Given the description of an element on the screen output the (x, y) to click on. 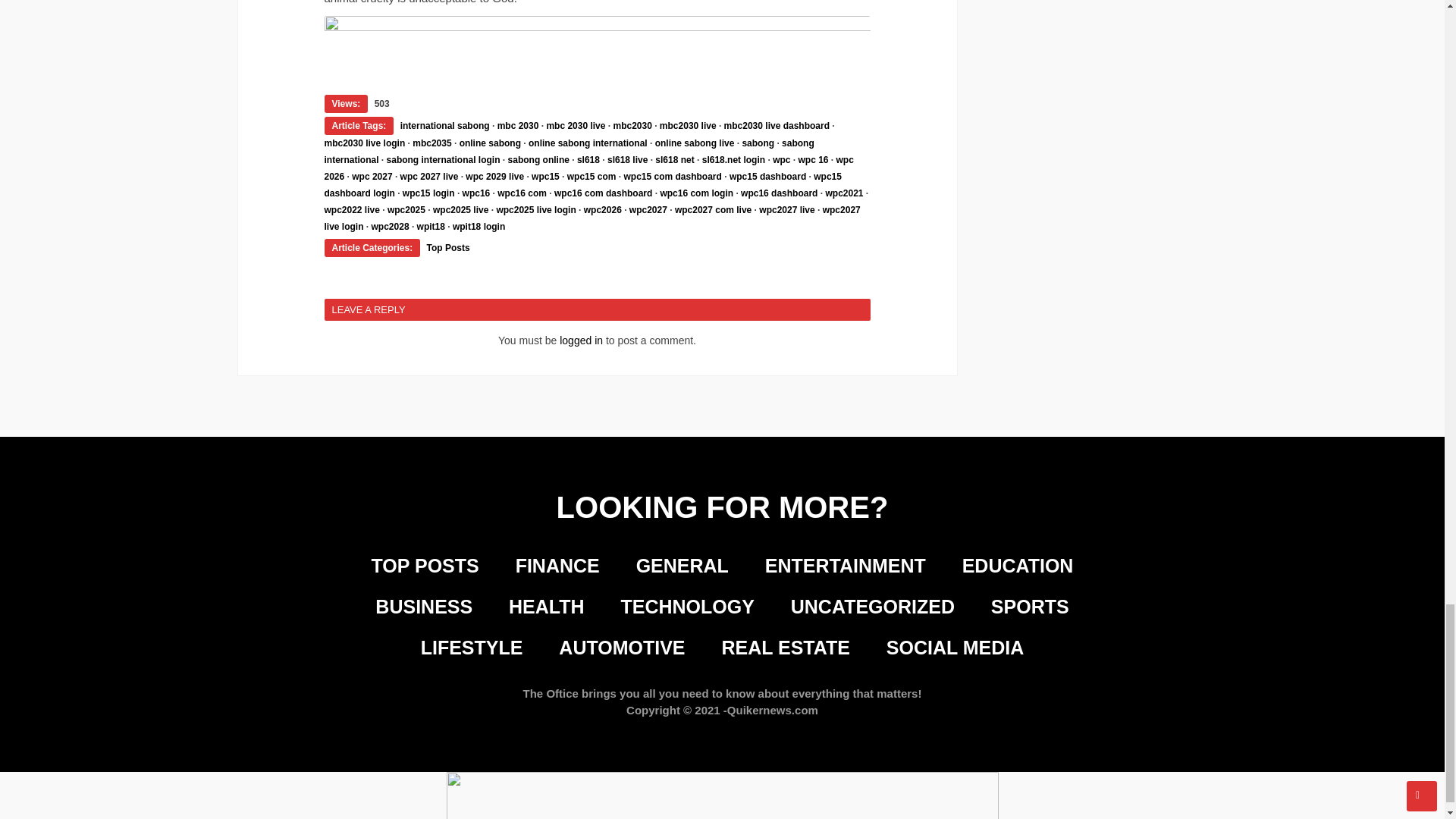
mbc2035 (431, 143)
international sabong (444, 125)
mbc 2030 live (575, 125)
mbc2030 live dashboard (776, 125)
mbc2030 live login (365, 143)
mbc 2030 (517, 125)
mbc2030 (631, 125)
mbc2030 live (687, 125)
